Given the description of an element on the screen output the (x, y) to click on. 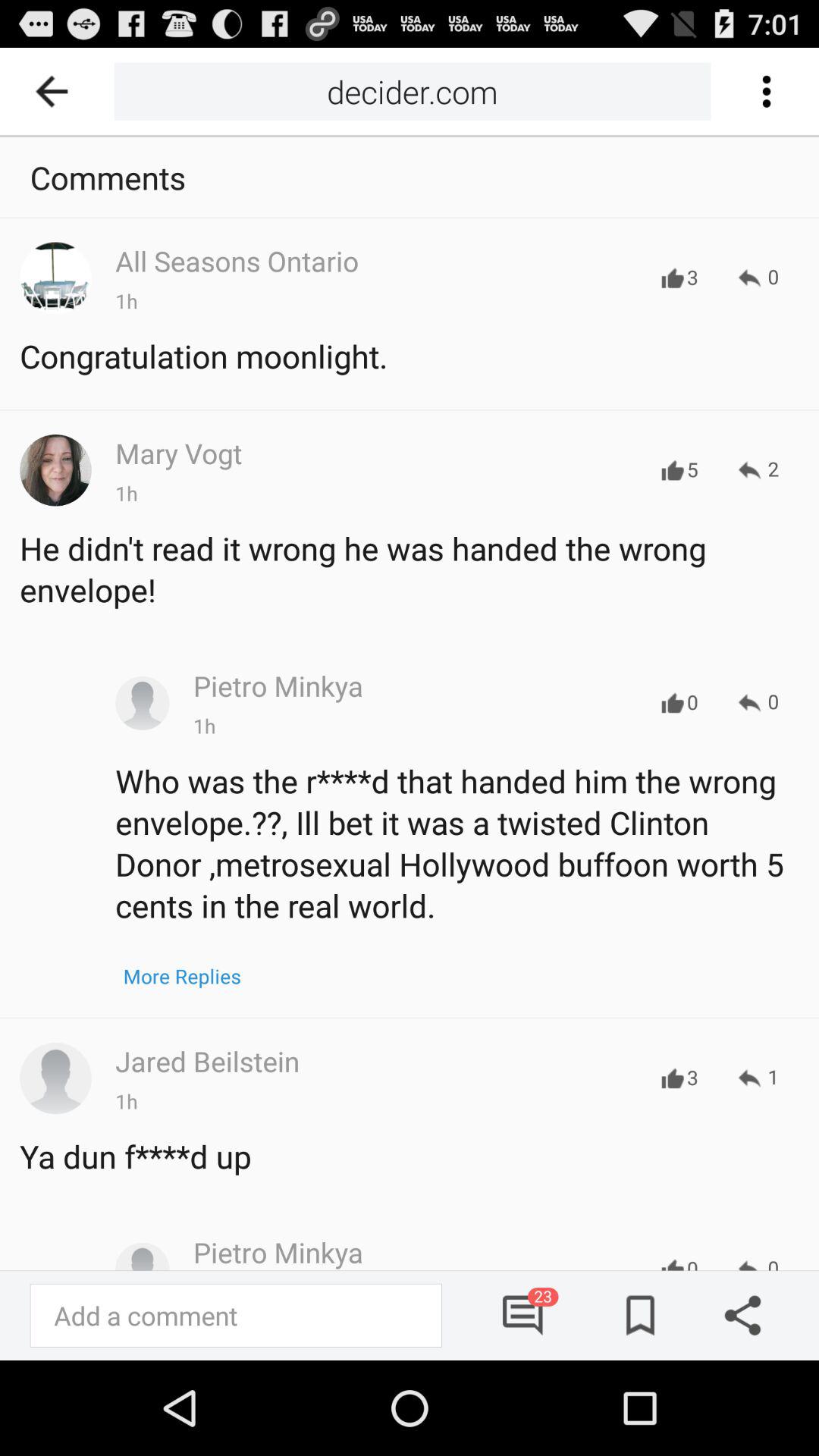
open the icon above he didn t item (758, 470)
